Given the description of an element on the screen output the (x, y) to click on. 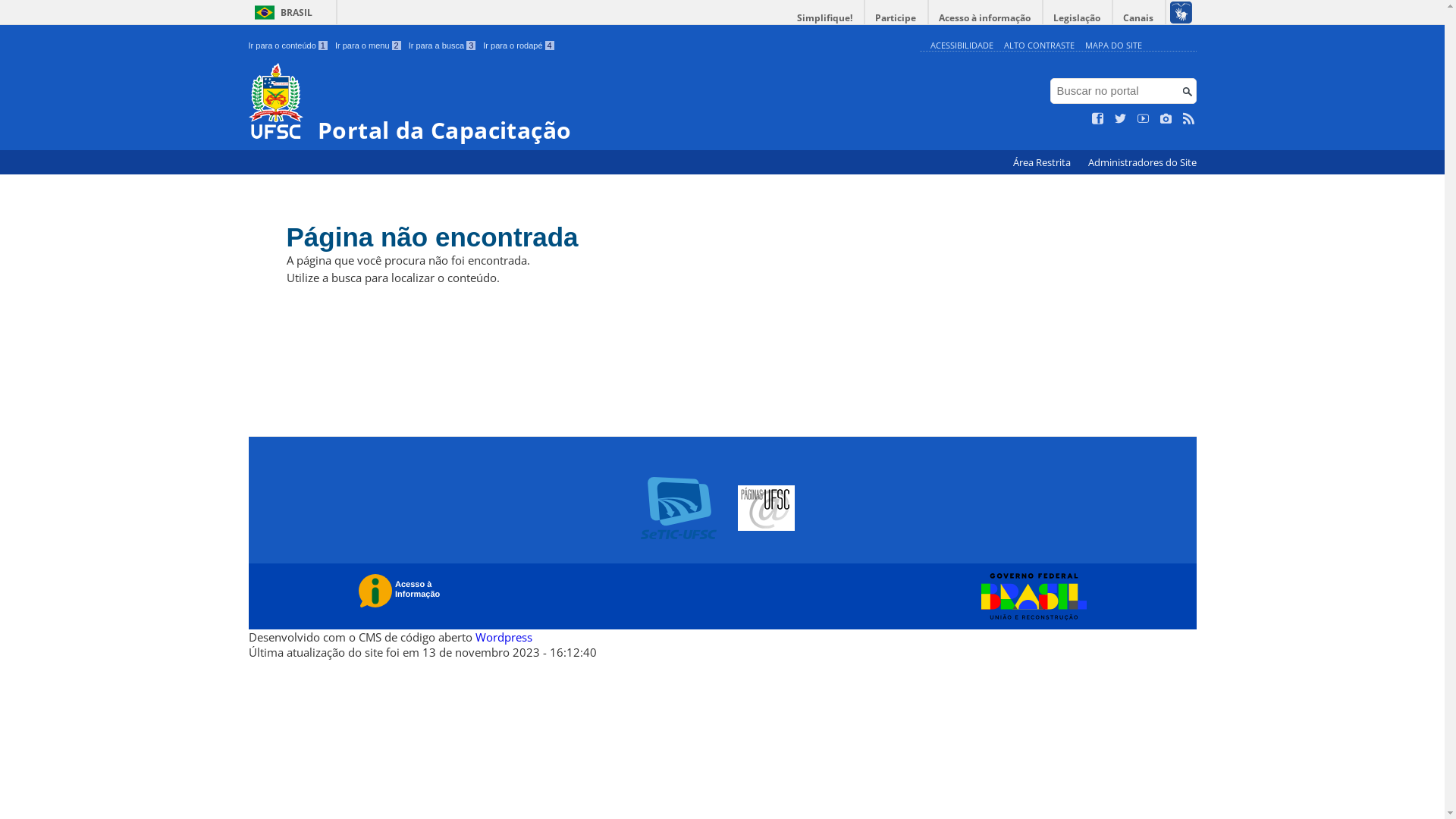
Curta no Facebook Element type: hover (1098, 118)
Administradores do Site Element type: text (1141, 162)
ACESSIBILIDADE Element type: text (960, 44)
Governo Federal Element type: hover (1029, 596)
BRASIL Element type: text (280, 12)
Ir para a busca 3 Element type: text (442, 45)
ALTO CONTRASTE Element type: text (1039, 44)
Simplifique! Element type: text (825, 18)
Siga no Twitter Element type: hover (1120, 118)
Veja no Instagram Element type: hover (1166, 118)
Ir para o menu 2 Element type: text (368, 45)
Wordpress Element type: text (502, 636)
Canais Element type: text (1138, 18)
MAPA DO SITE Element type: text (1112, 44)
Participe Element type: text (895, 18)
